Given the description of an element on the screen output the (x, y) to click on. 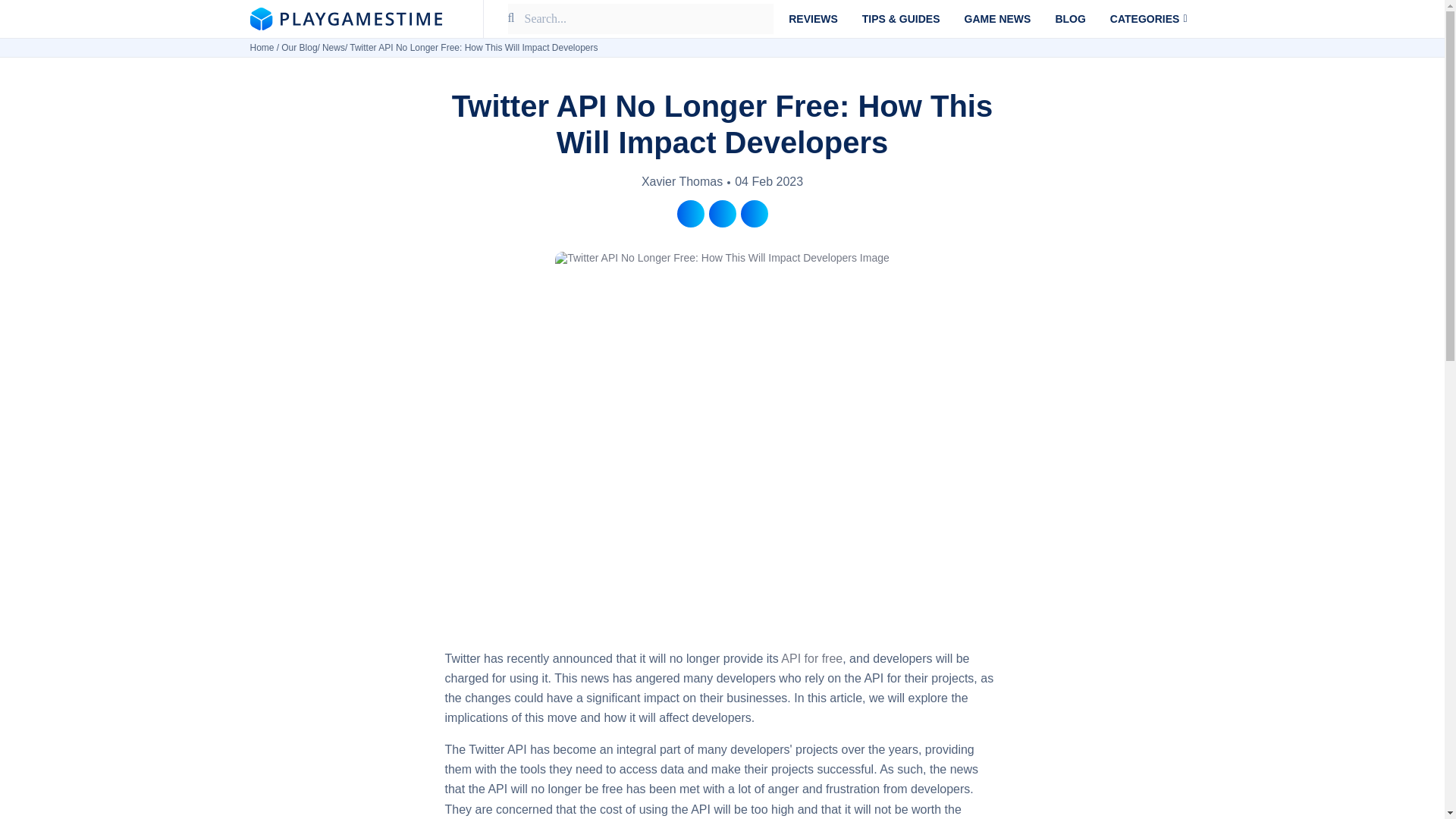
GAME NEWS (997, 18)
News (333, 47)
REVIEWS (812, 18)
Our Blog (299, 47)
API for free (811, 658)
Home (262, 47)
BLOG (1069, 18)
